Given the description of an element on the screen output the (x, y) to click on. 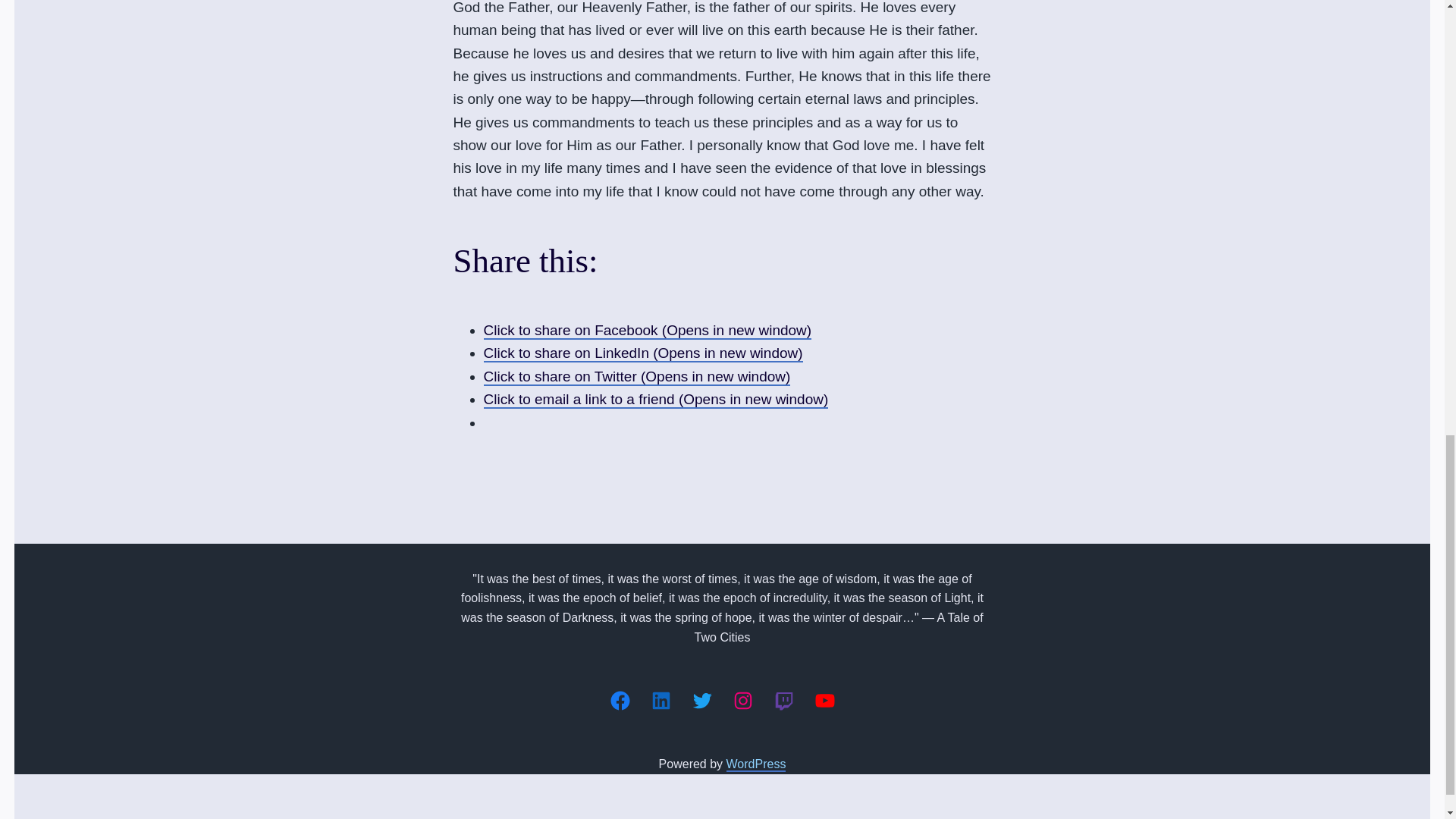
Click to email a link to a friend (655, 399)
WordPress (756, 764)
Twitch (782, 700)
LinkedIn (660, 700)
Click to share on Twitter (636, 376)
Click to share on Facebook (647, 330)
Twitter (701, 700)
Click to share on LinkedIn (643, 353)
YouTube (823, 700)
Facebook (619, 700)
Instagram (742, 700)
